Given the description of an element on the screen output the (x, y) to click on. 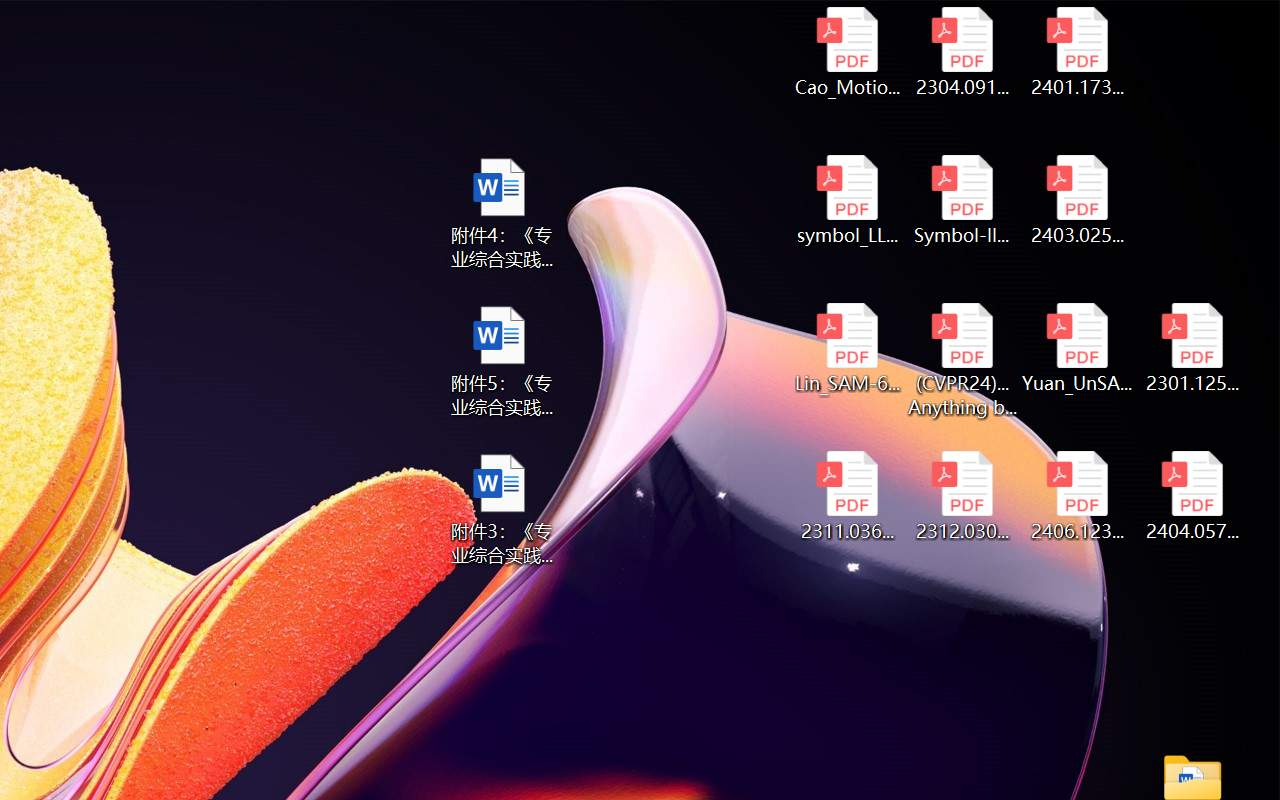
(CVPR24)Matching Anything by Segmenting Anything.pdf (962, 360)
2404.05719v1.pdf (1192, 496)
2311.03658v2.pdf (846, 496)
2301.12597v3.pdf (1192, 348)
2406.12373v2.pdf (1077, 496)
2403.02502v1.pdf (1077, 200)
symbol_LLM.pdf (846, 200)
Symbol-llm-v2.pdf (962, 200)
2401.17399v1.pdf (1077, 52)
2304.09121v3.pdf (962, 52)
